Given the description of an element on the screen output the (x, y) to click on. 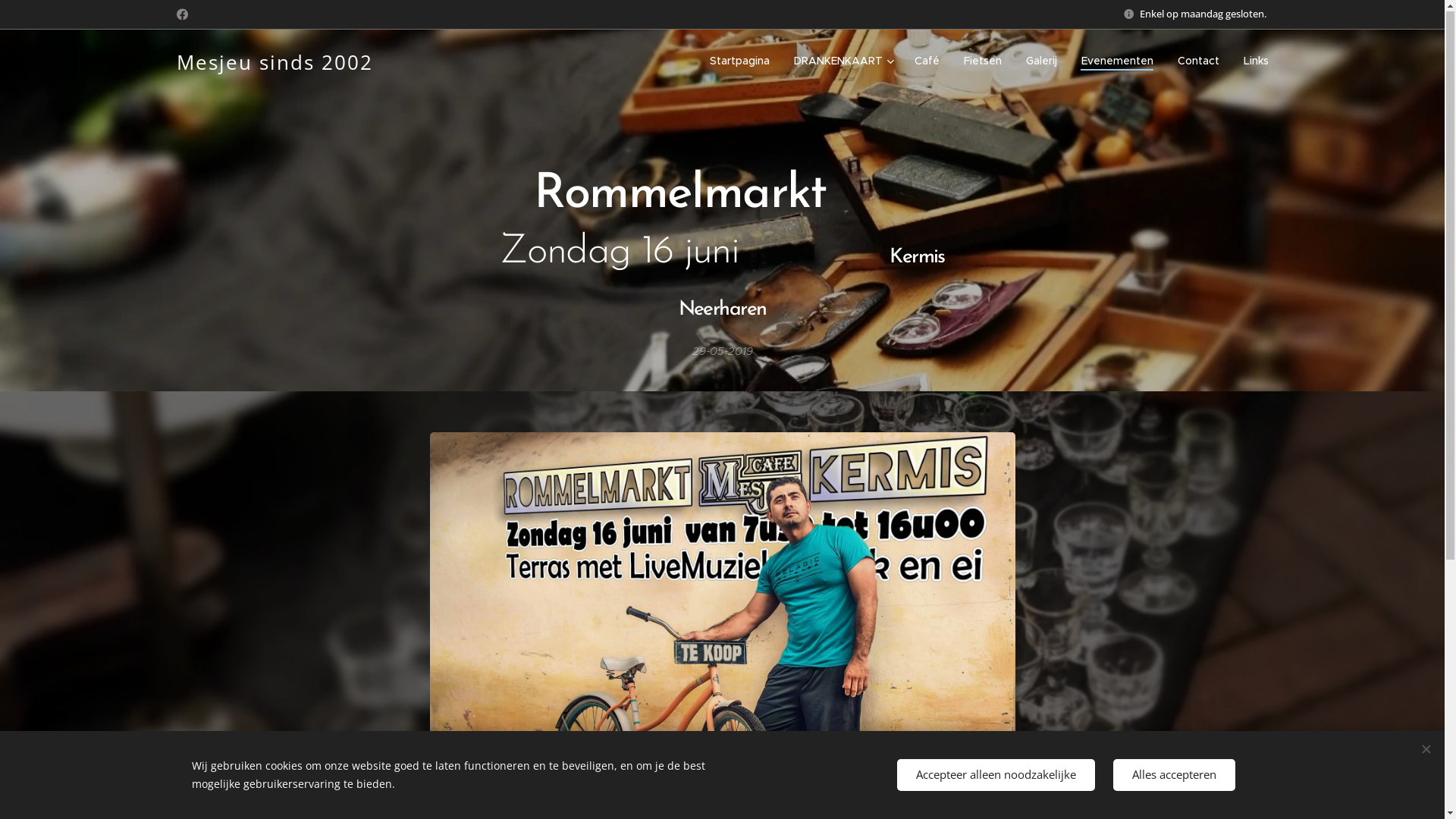
Mesjeu sinds 2002 Element type: text (274, 61)
Facebook Element type: hover (181, 15)
Accepteer alleen noodzakelijke Element type: text (995, 774)
Alles accepteren Element type: text (1174, 774)
Links Element type: text (1249, 61)
Fietsen Element type: text (981, 61)
Evenementen Element type: text (1117, 61)
Contact Element type: text (1197, 61)
Startpagina Element type: text (743, 61)
DRANKENKAART Element type: text (841, 61)
Galerij Element type: text (1040, 61)
